Given the description of an element on the screen output the (x, y) to click on. 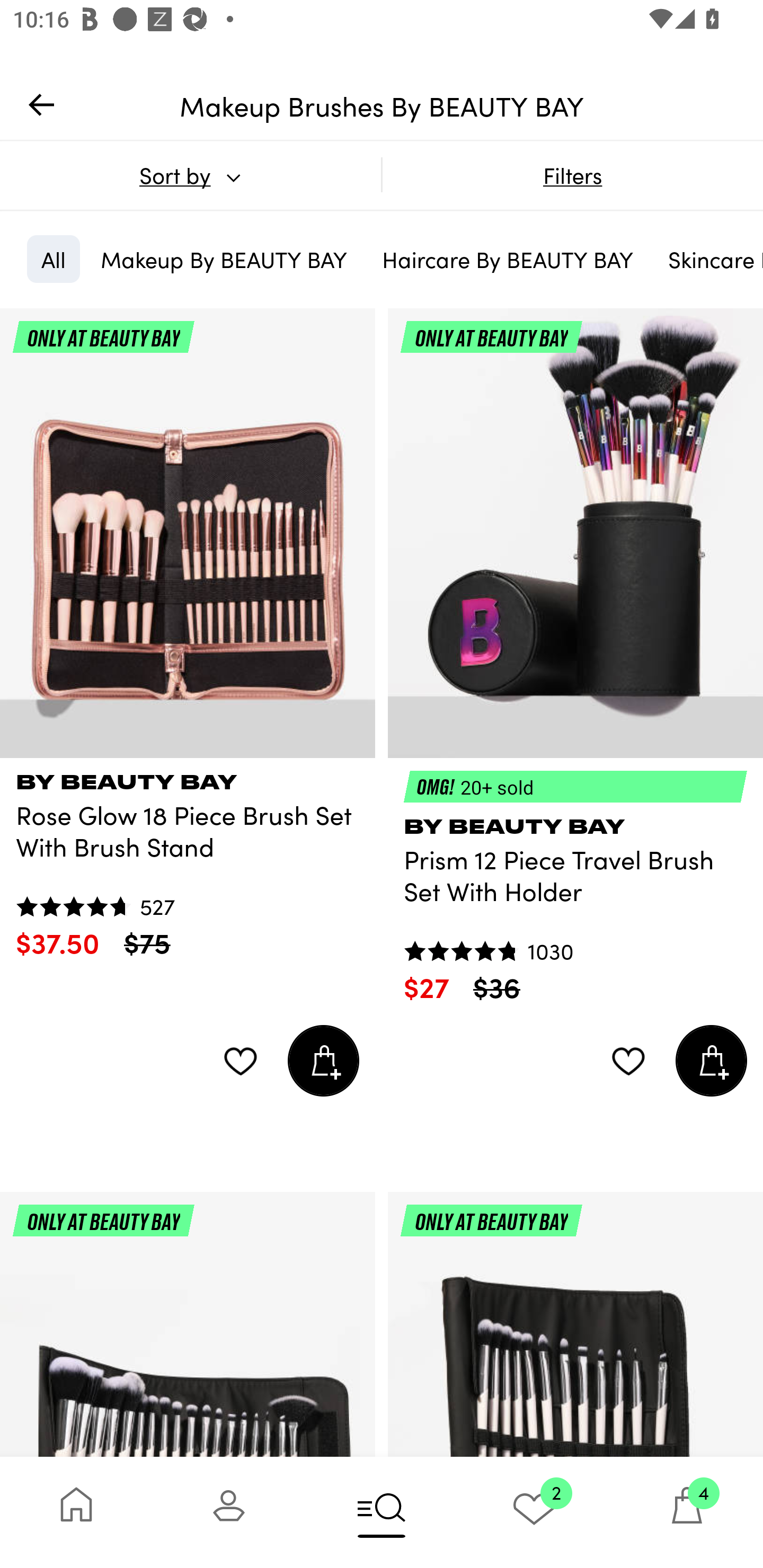
Sort by (190, 174)
Filters (572, 174)
All (53, 258)
Makeup By BEAUTY BAY (223, 258)
Haircare By BEAUTY BAY (507, 258)
Skincare By BEAUTY BAY (708, 258)
2 (533, 1512)
4 (686, 1512)
